Given the description of an element on the screen output the (x, y) to click on. 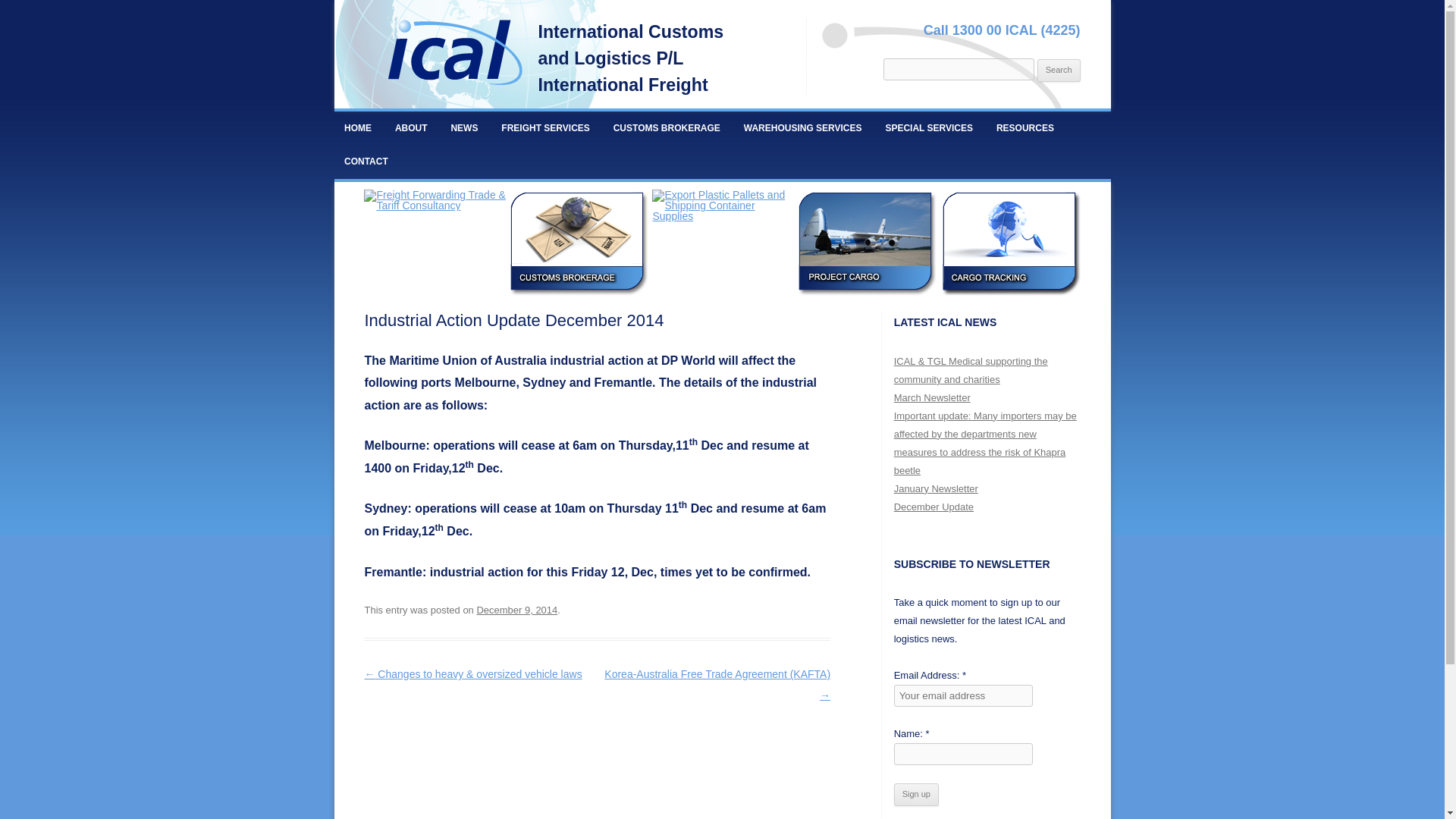
FREIGHT SERVICES (545, 127)
Skip to content (757, 116)
Search (1058, 69)
SPECIAL SERVICES (929, 127)
WAREHOUSING SERVICES (802, 127)
International Customs and Logistics (453, 55)
RESOURCES (1024, 127)
Sign up (916, 793)
2:42 pm (516, 609)
CUSTOMS BROKERAGE (666, 127)
ABOUT (411, 127)
NEWS (464, 127)
Skip to content (757, 116)
HOME (357, 127)
Search (1058, 69)
